Given the description of an element on the screen output the (x, y) to click on. 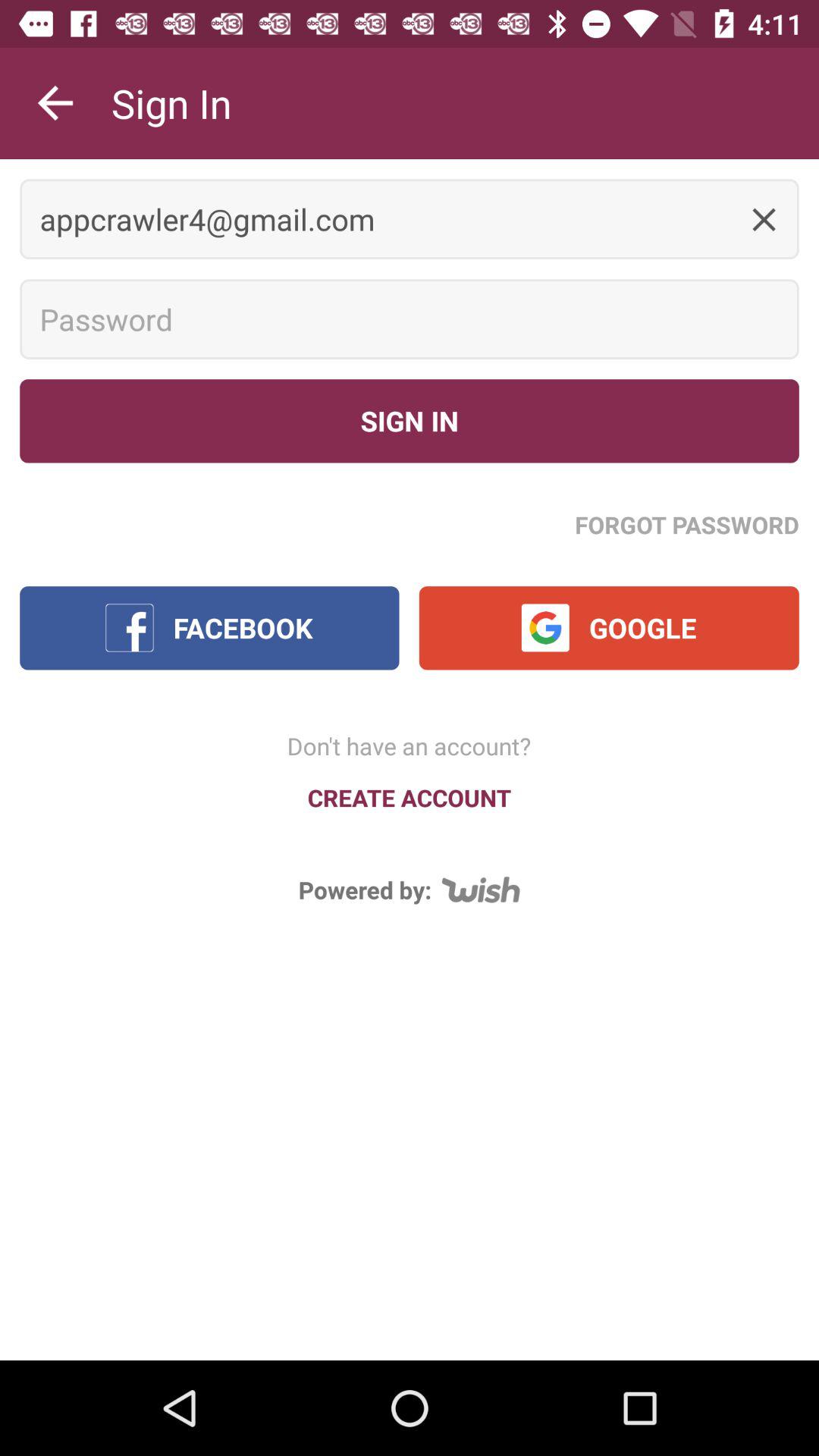
turn on the item below sign in (409, 219)
